Given the description of an element on the screen output the (x, y) to click on. 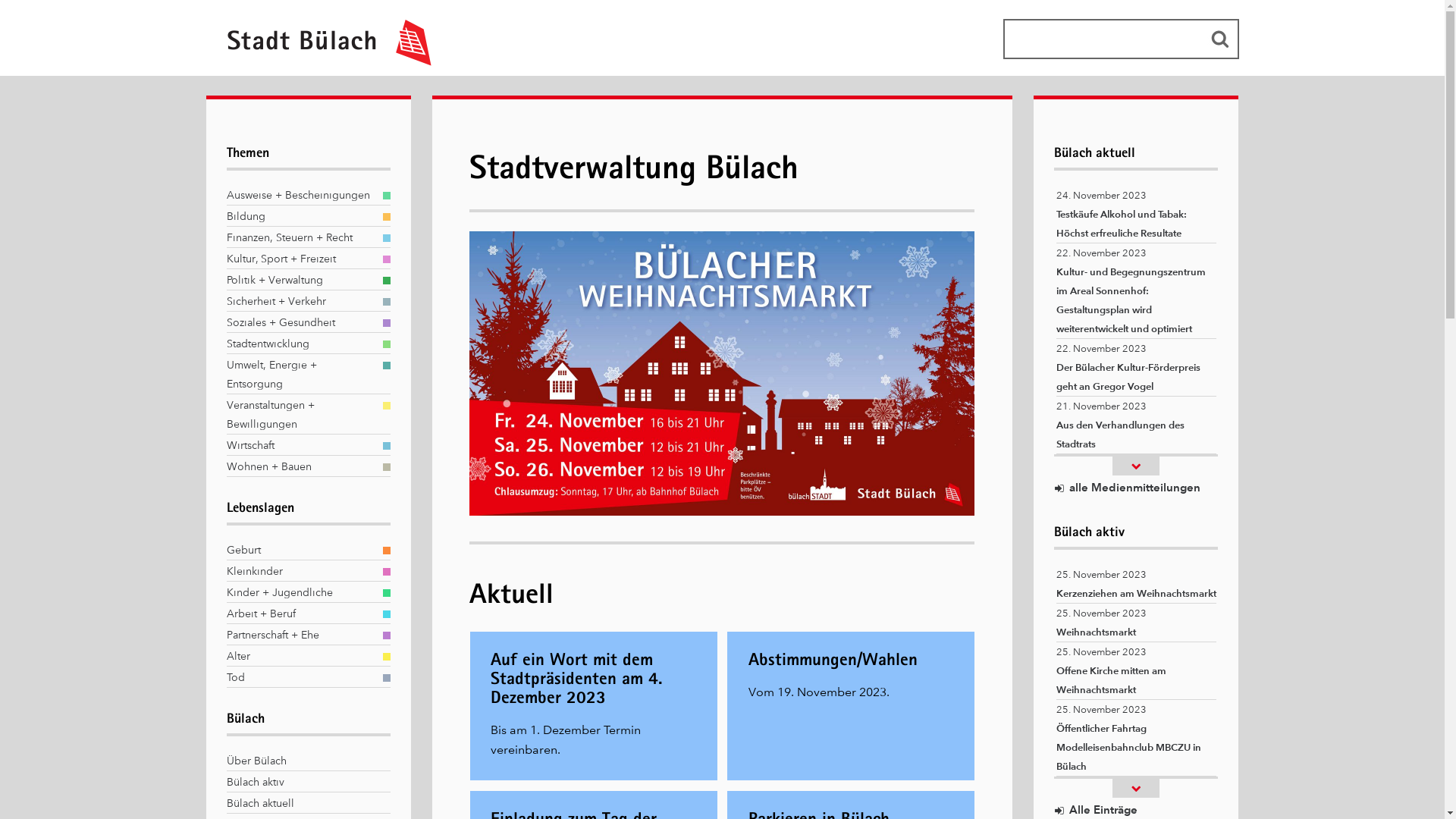
Mehr Inhalt anzeigen Element type: hover (1135, 465)
Umwelt, Energie + Entsorgung Element type: text (299, 374)
Wohnen + Bauen Element type: text (299, 466)
Alter Element type: text (299, 655)
Mehr Inhalt anzeigen Element type: hover (1135, 787)
Tod Element type: text (299, 677)
Politik + Verwaltung Element type: text (299, 279)
Finanzen, Steuern + Recht Element type: text (299, 237)
Soziales + Gesundheit Element type: text (299, 322)
zur Startseite Element type: hover (321, 61)
Partnerschaft + Ehe Element type: text (299, 634)
Abstimmungen/Wahlen
Vom 19. November 2023. Element type: text (850, 705)
25. November 2023
Weihnachtsmarkt Element type: text (1136, 622)
alle Medienmitteilungen Element type: text (1127, 487)
Wirtschaft Element type: text (299, 445)
Suche Starten Element type: hover (1219, 38)
21. November 2023
Aus den Verhandlungen des Stadtrats Element type: text (1136, 424)
Geburt Element type: text (299, 549)
Kleinkinder Element type: text (299, 570)
Kinder + Jugendliche Element type: text (299, 592)
Stadtentwicklung Element type: text (299, 343)
Arbeit + Beruf Element type: text (299, 613)
Kultur, Sport + Freizeit Element type: text (299, 258)
Bildung Element type: text (299, 216)
Ausweise + Bescheinigungen Element type: text (299, 194)
25. November 2023
Offene Kirche mitten am Weihnachtsmarkt Element type: text (1136, 670)
Sicherheit + Verkehr Element type: text (299, 300)
25. November 2023
Kerzenziehen am Weihnachtsmarkt Element type: text (1136, 583)
Veranstaltungen + Bewilligungen Element type: text (299, 414)
